Given the description of an element on the screen output the (x, y) to click on. 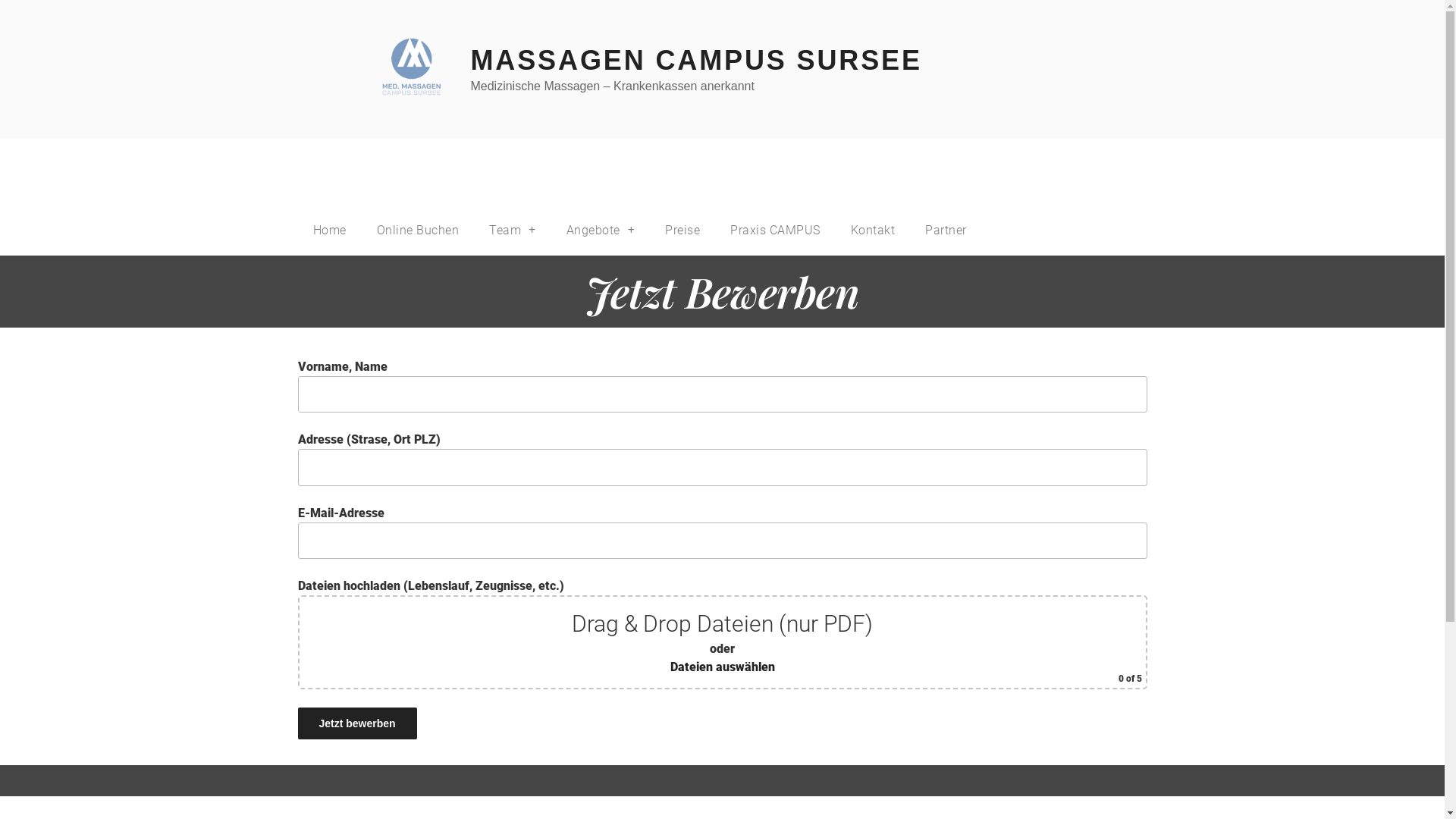
Praxis CAMPUS Element type: text (775, 230)
Jetzt bewerben Element type: text (356, 723)
Partner Element type: text (946, 230)
Home Element type: text (328, 230)
Angebote Element type: text (600, 230)
Online Buchen Element type: text (416, 230)
Preise Element type: text (682, 230)
Team Element type: text (512, 230)
MASSAGEN CAMPUS SURSEE Element type: text (695, 59)
Kontakt Element type: text (872, 230)
